Given the description of an element on the screen output the (x, y) to click on. 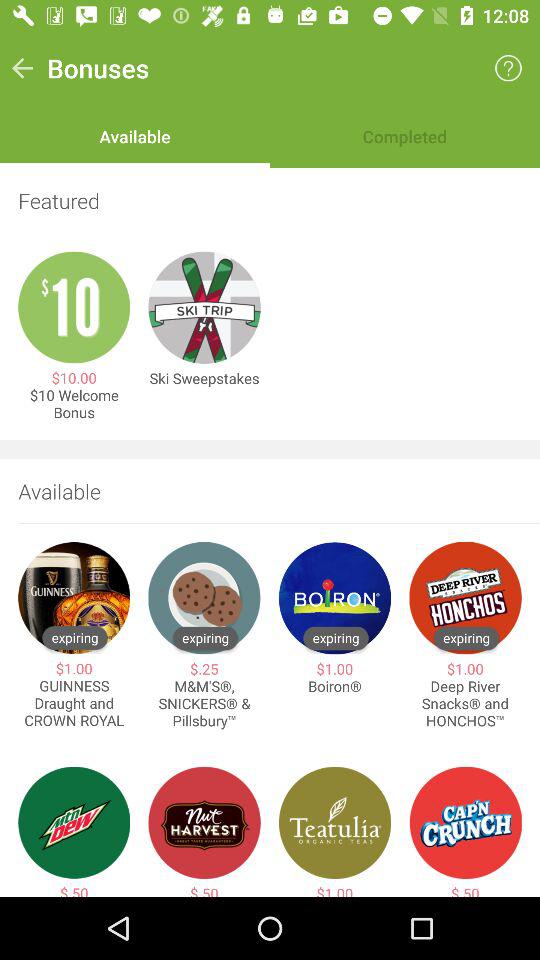
launch the m m s item (204, 704)
